Given the description of an element on the screen output the (x, y) to click on. 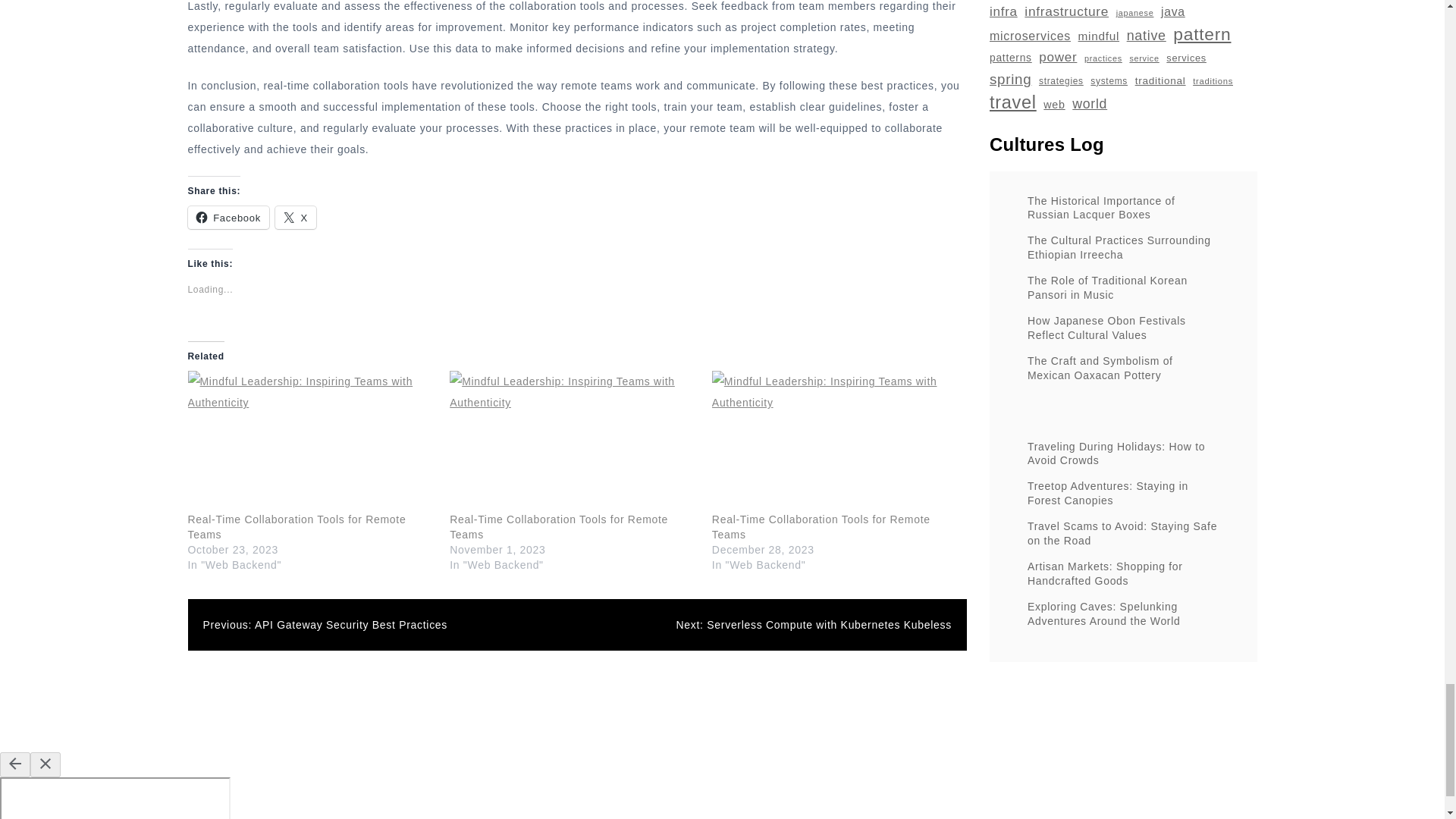
Click to share on Facebook (228, 217)
Real-Time Collaboration Tools for Remote Teams (835, 441)
Click to share on X (295, 217)
Real-Time Collaboration Tools for Remote Teams (311, 441)
Real-Time Collaboration Tools for Remote Teams (558, 526)
Real-Time Collaboration Tools for Remote Teams (820, 526)
Real-Time Collaboration Tools for Remote Teams (296, 526)
Real-Time Collaboration Tools for Remote Teams (573, 441)
